Given the description of an element on the screen output the (x, y) to click on. 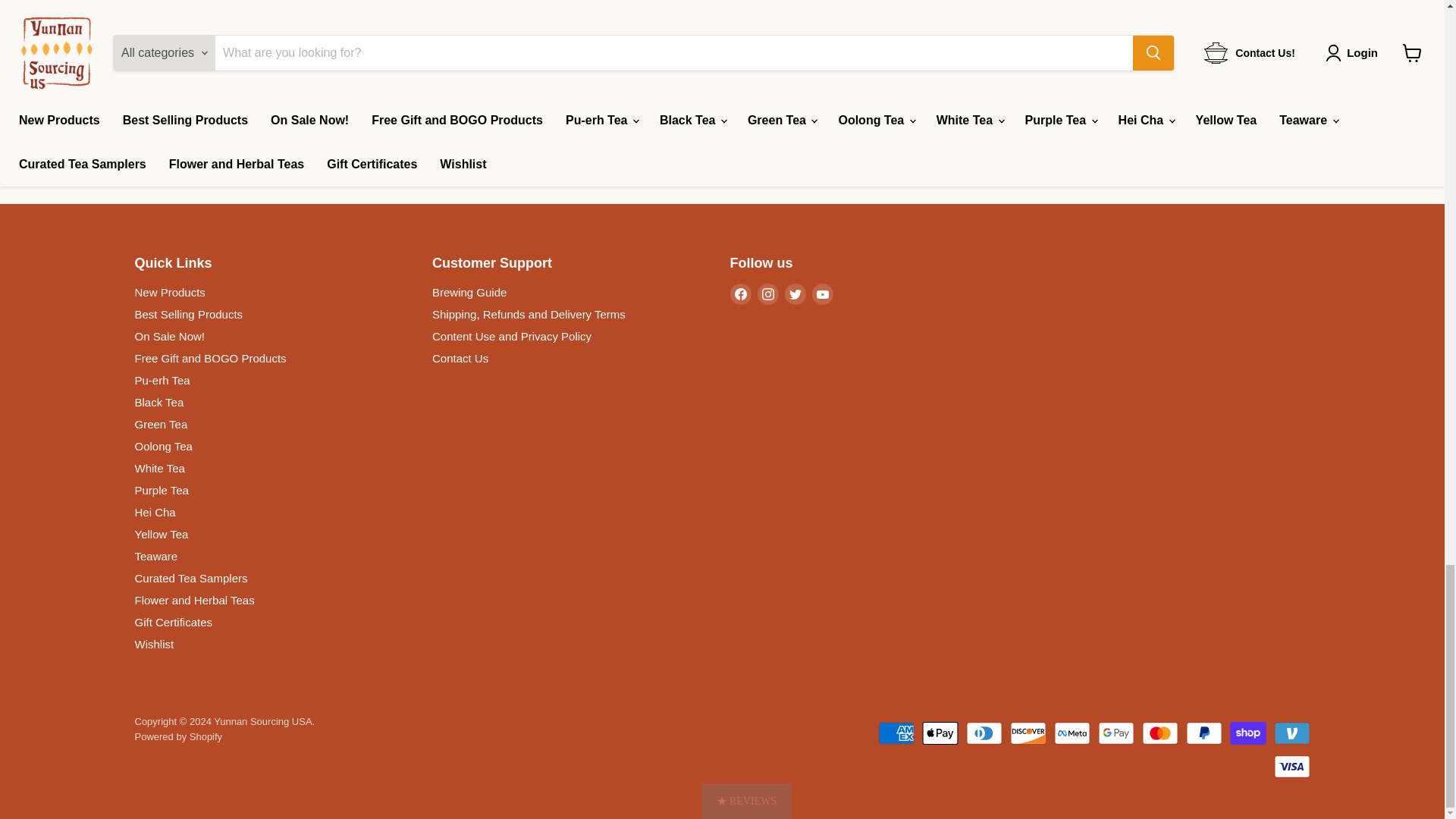
Facebook (740, 292)
Instagram (767, 292)
YouTube (821, 292)
Twitter (794, 292)
